Given the description of an element on the screen output the (x, y) to click on. 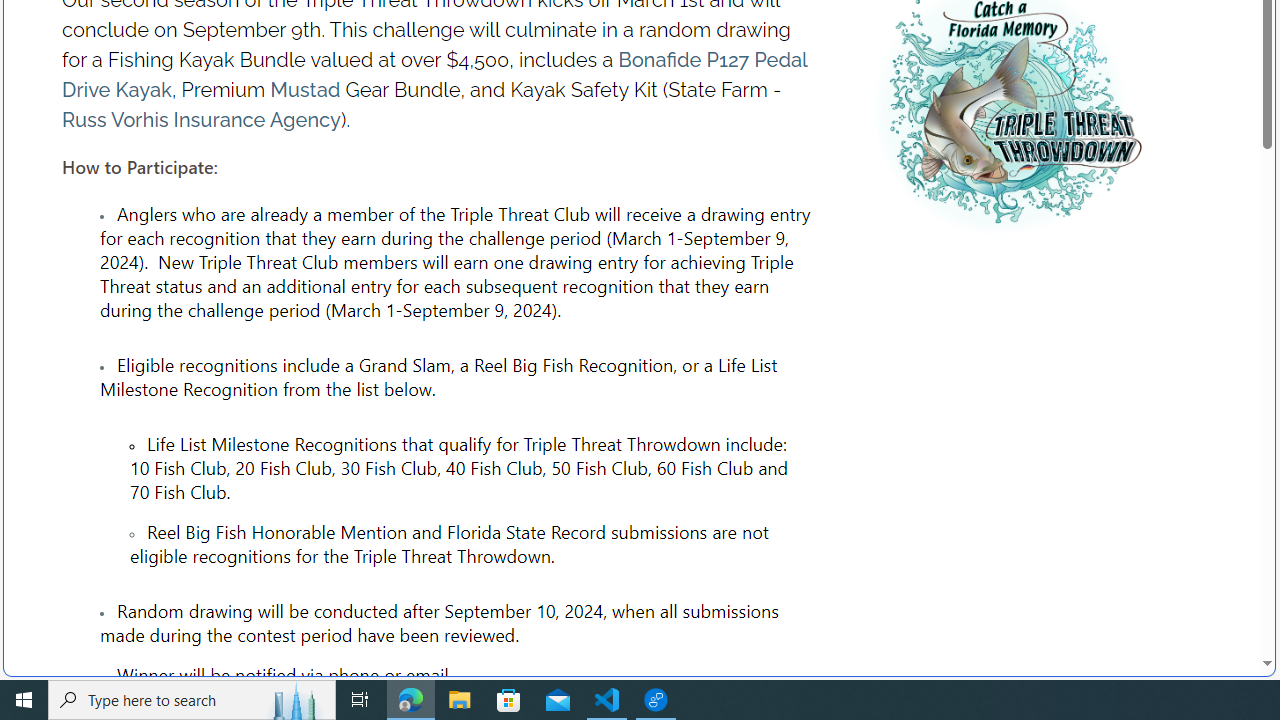
P127 Pedal Drive Kayak (434, 75)
Mustad (305, 89)
Bonafide (659, 60)
Russ Vorhis Insurance Agency (200, 120)
